Given the description of an element on the screen output the (x, y) to click on. 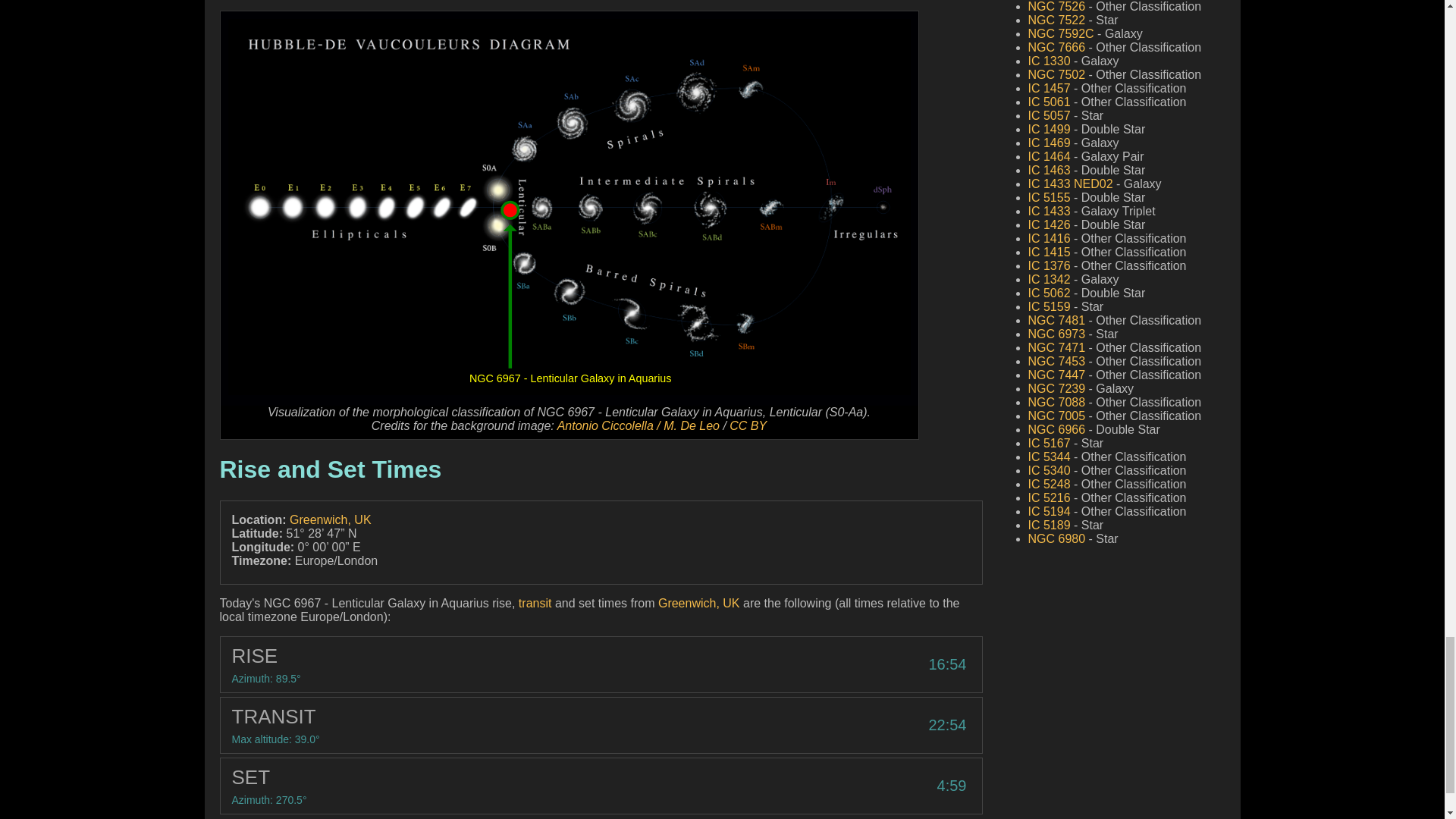
Change location (698, 603)
via Wikimedia Commons (638, 425)
Change location (330, 519)
